Given the description of an element on the screen output the (x, y) to click on. 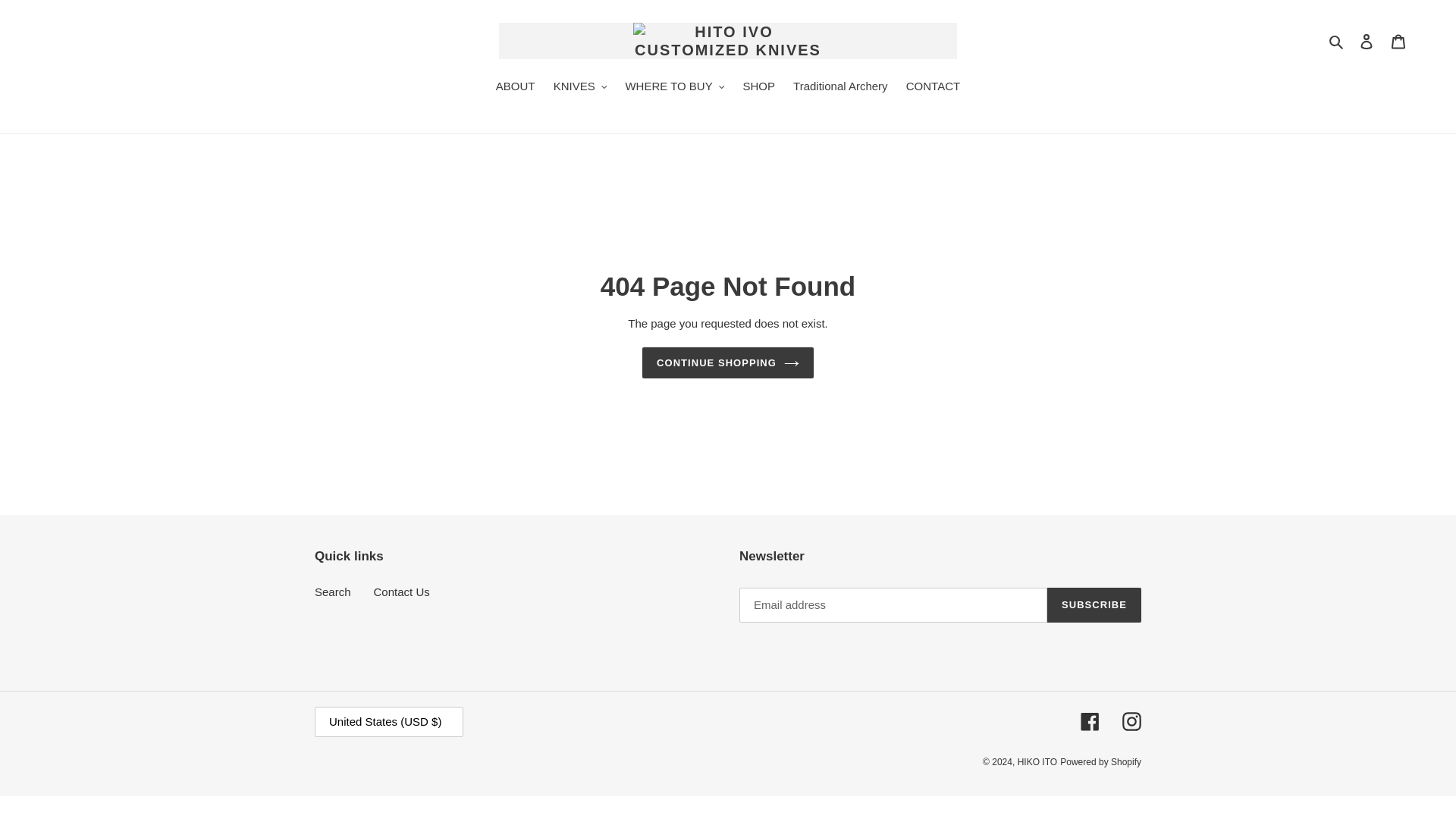
Cart (1397, 41)
Search (1337, 40)
KNIVES (580, 87)
CONTINUE SHOPPING (727, 363)
WHERE TO BUY (674, 87)
SHOP (759, 87)
CONTACT (933, 87)
Traditional Archery (840, 87)
ABOUT (515, 87)
Log in (1366, 41)
